Given the description of an element on the screen output the (x, y) to click on. 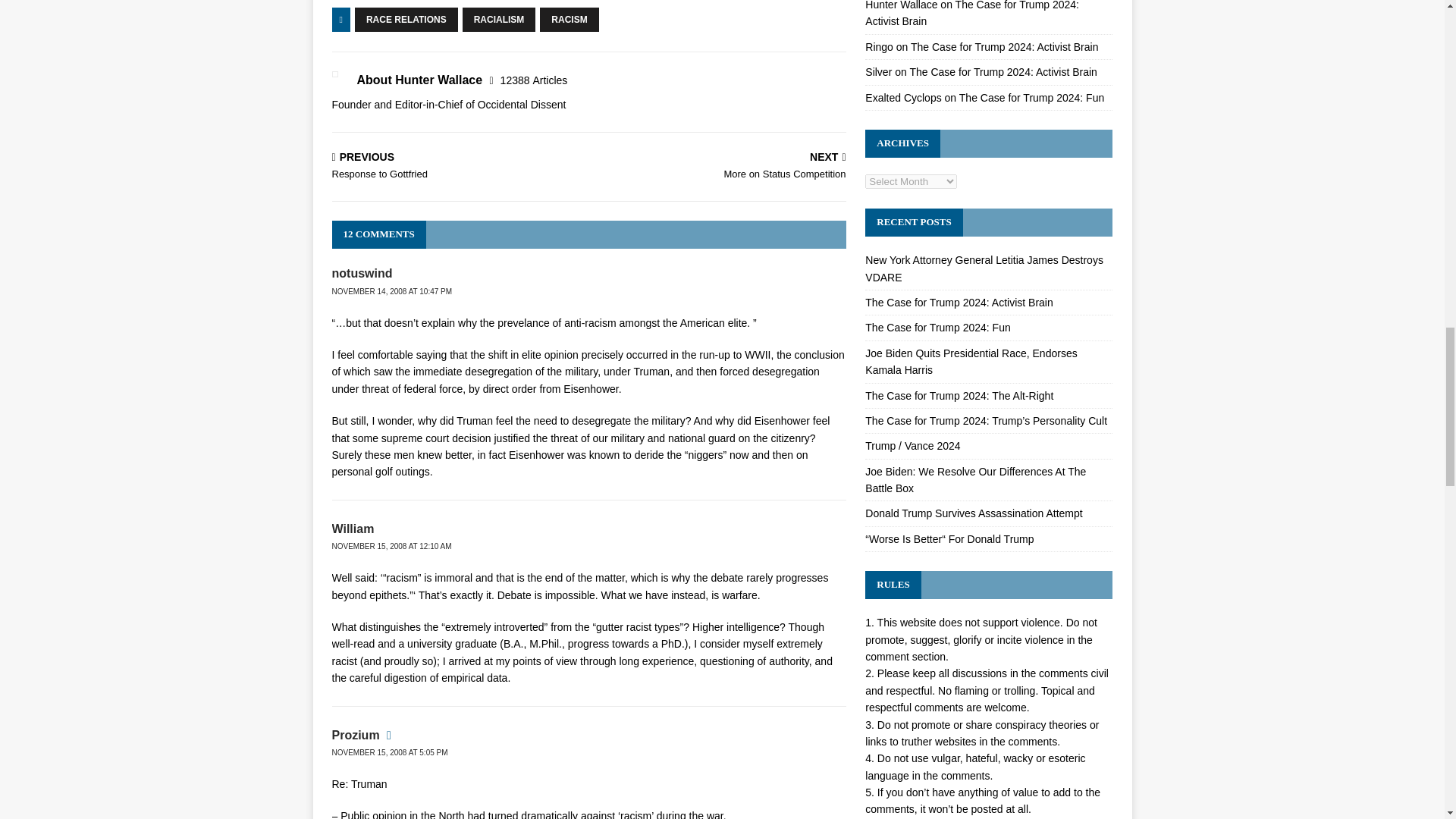
More articles written by Hunter Wallace' (533, 80)
RACISM (569, 19)
RACIALISM (499, 19)
RACE RELATIONS (406, 19)
12388 Articles (533, 80)
